Given the description of an element on the screen output the (x, y) to click on. 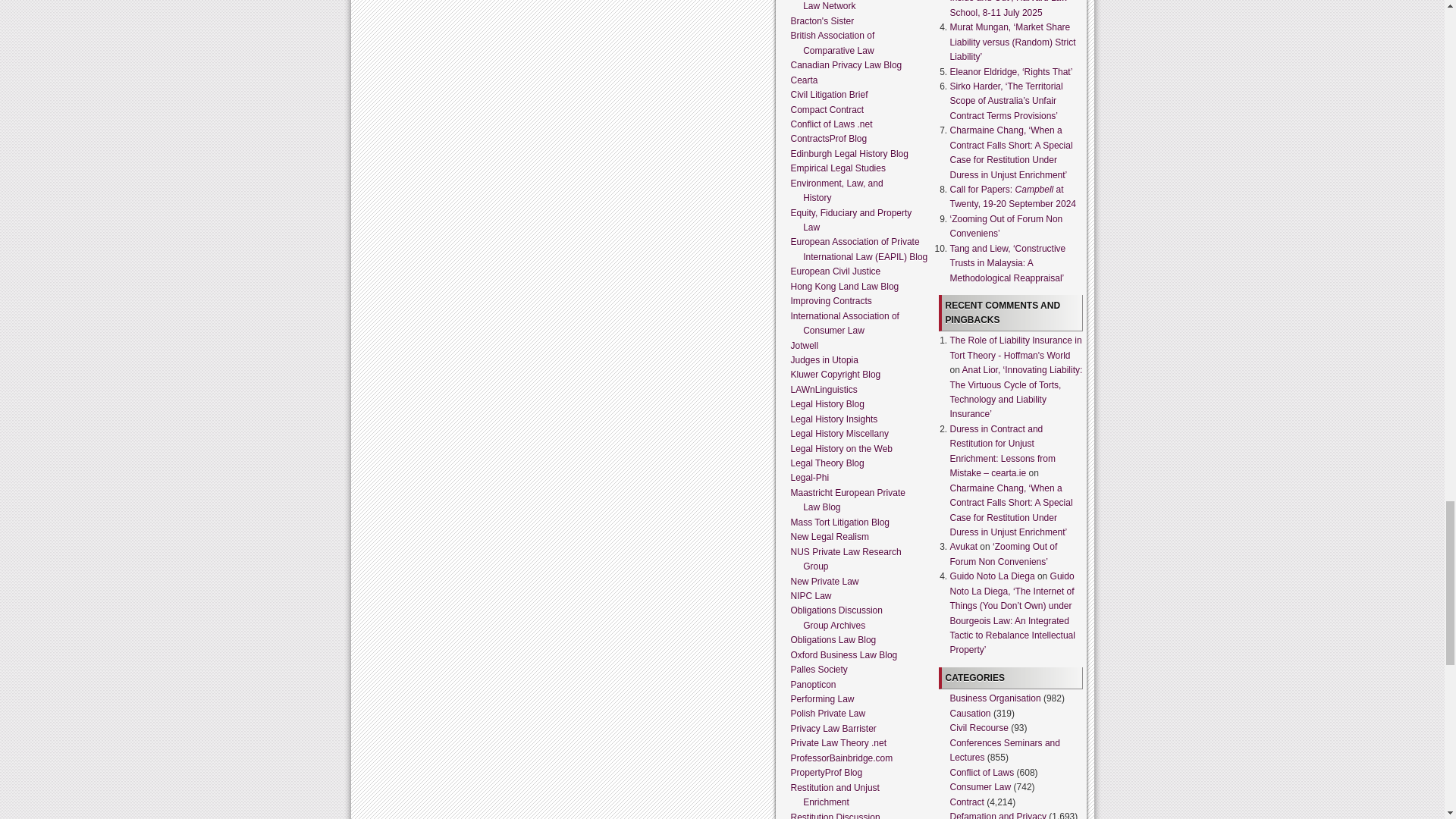
Call for Papers: Campbell at Twenty, 19-20 September 2024 (1012, 196)
